Given the description of an element on the screen output the (x, y) to click on. 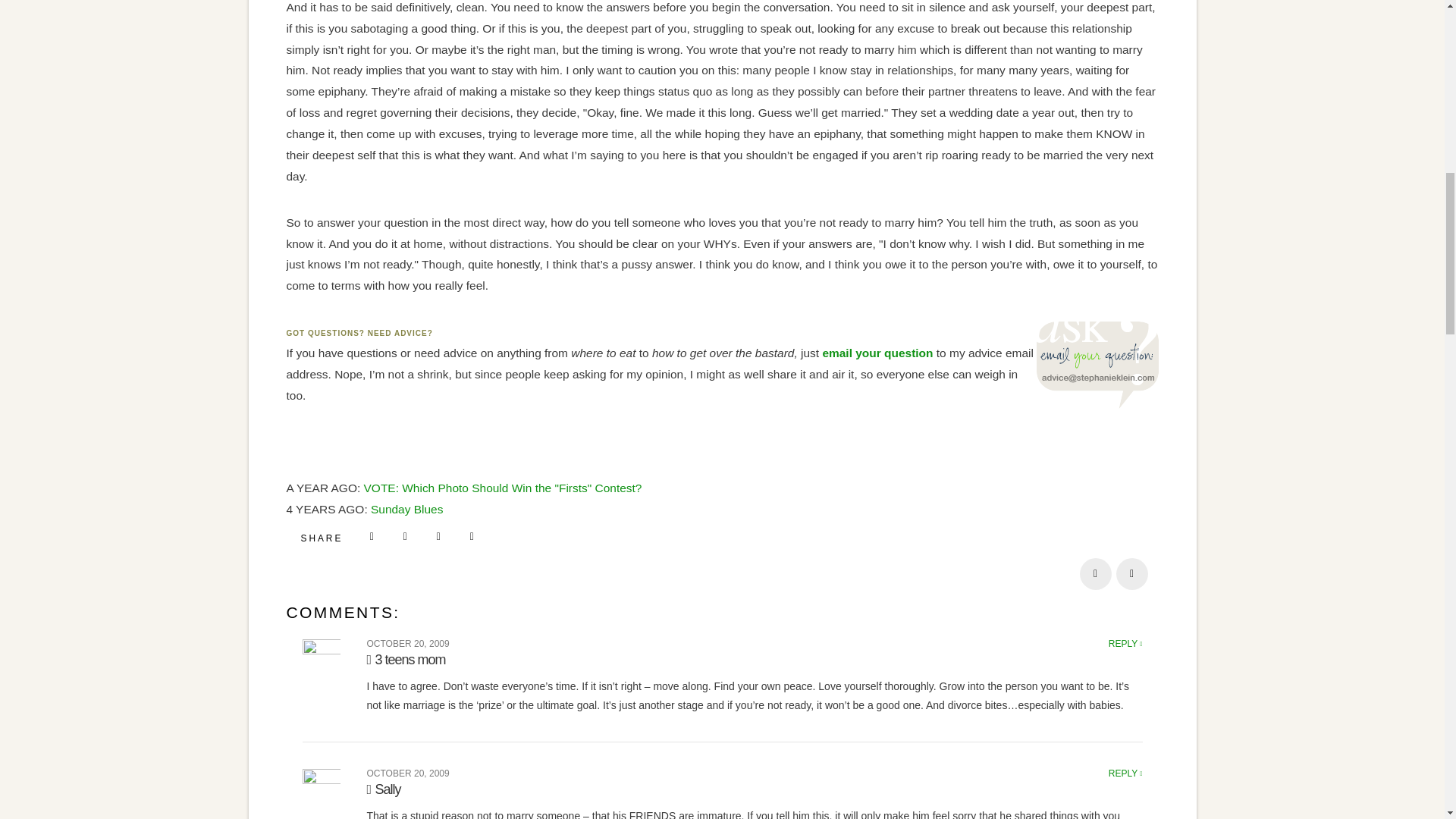
REPLY (1125, 643)
email your question (877, 352)
OCTOBER 20, 2009 (407, 643)
Prev (1096, 573)
OCTOBER 20, 2009 (407, 773)
REPLY (1125, 773)
Sunday Blues (406, 508)
Next (1132, 573)
VOTE: Which Photo Should Win the "Firsts" Contest? (503, 487)
